Given the description of an element on the screen output the (x, y) to click on. 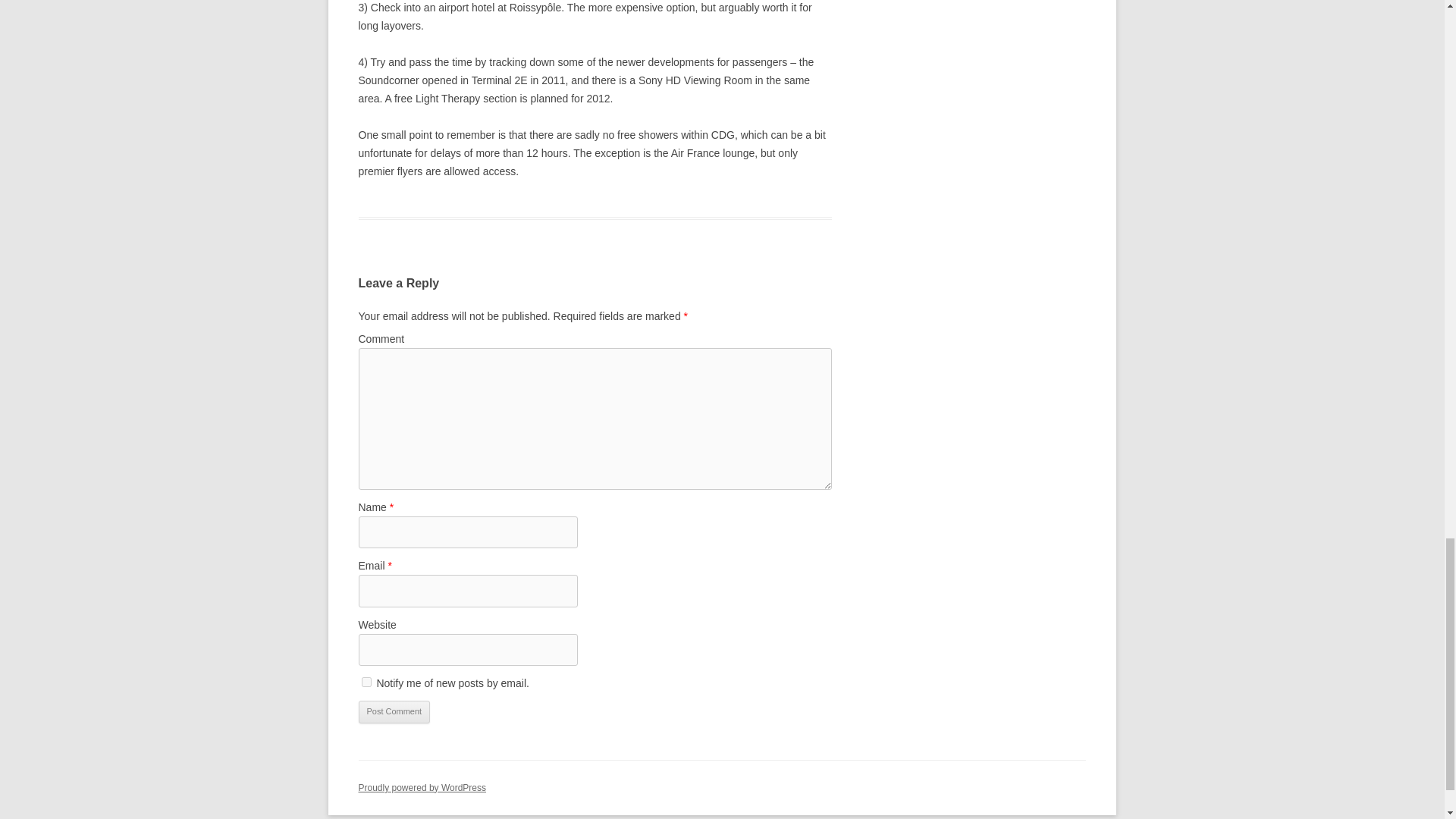
Semantic Personal Publishing Platform (422, 787)
Post Comment (393, 712)
subscribe (366, 682)
